Given the description of an element on the screen output the (x, y) to click on. 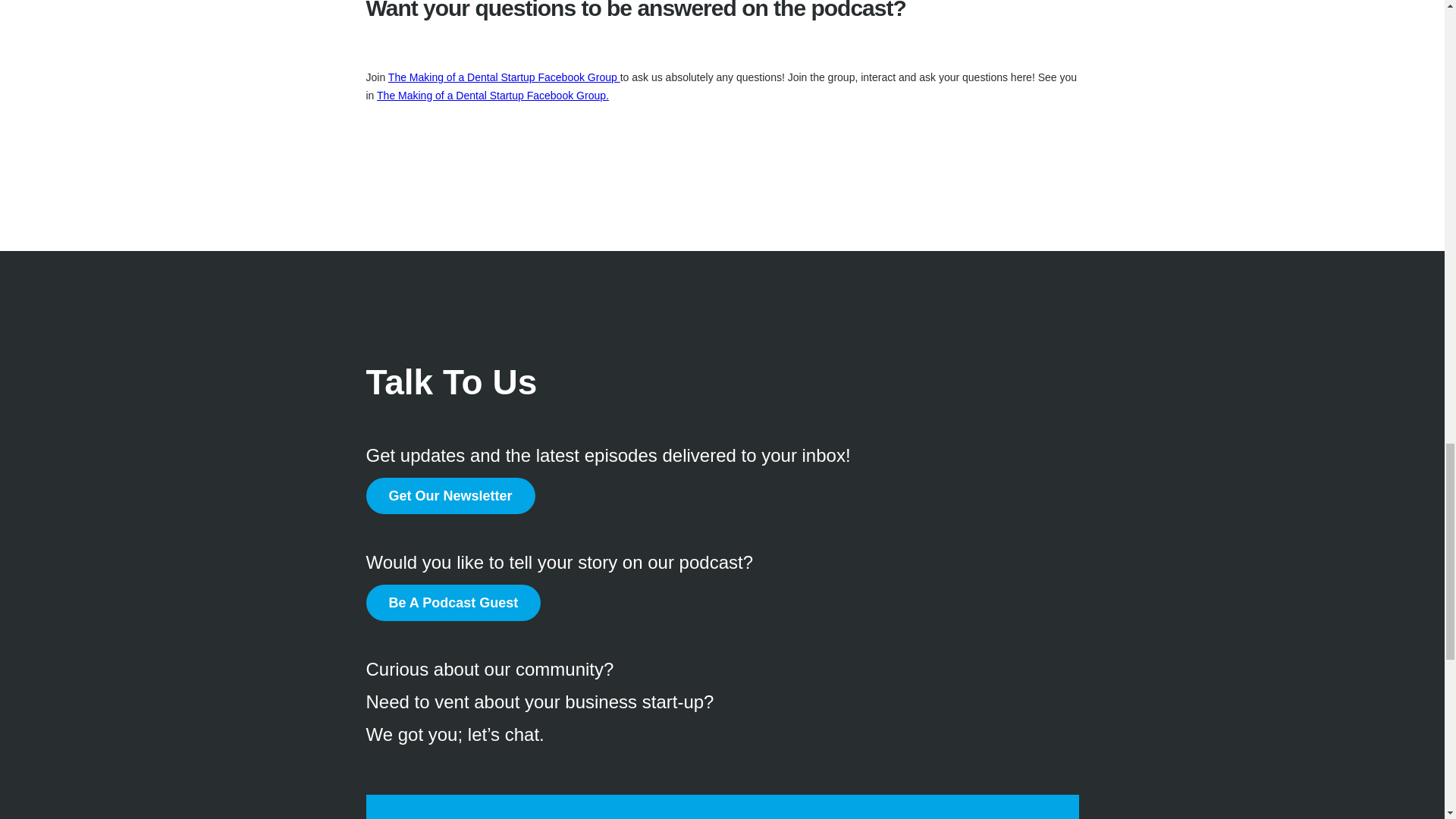
The Making of a Dental Startup Facebook Group. (492, 95)
Be A Podcast Guest (452, 602)
The Making of a Dental Startup Facebook Group (504, 77)
Get Our Newsletter (449, 495)
